Given the description of an element on the screen output the (x, y) to click on. 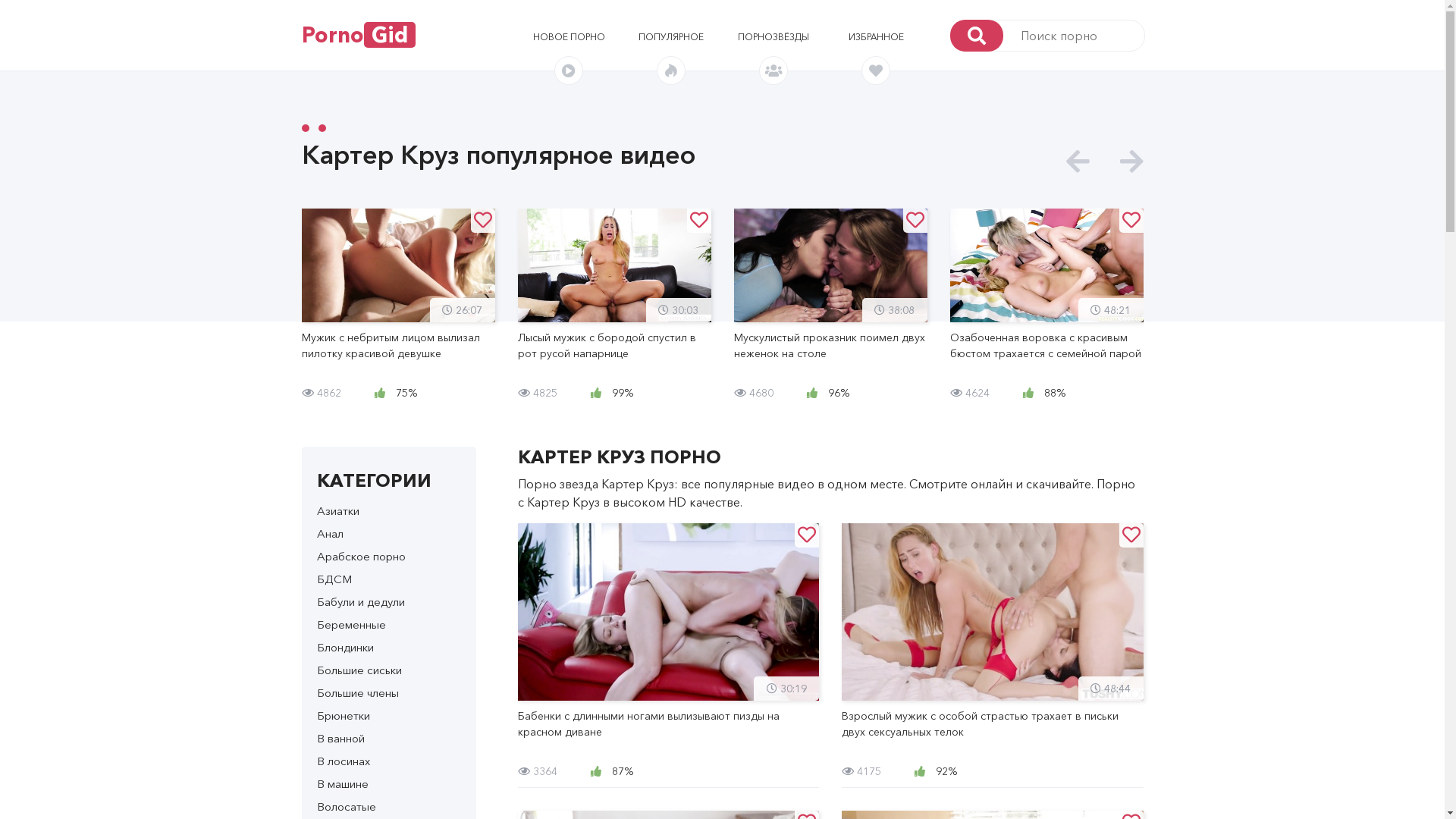
PornoGid Element type: text (358, 34)
